Given the description of an element on the screen output the (x, y) to click on. 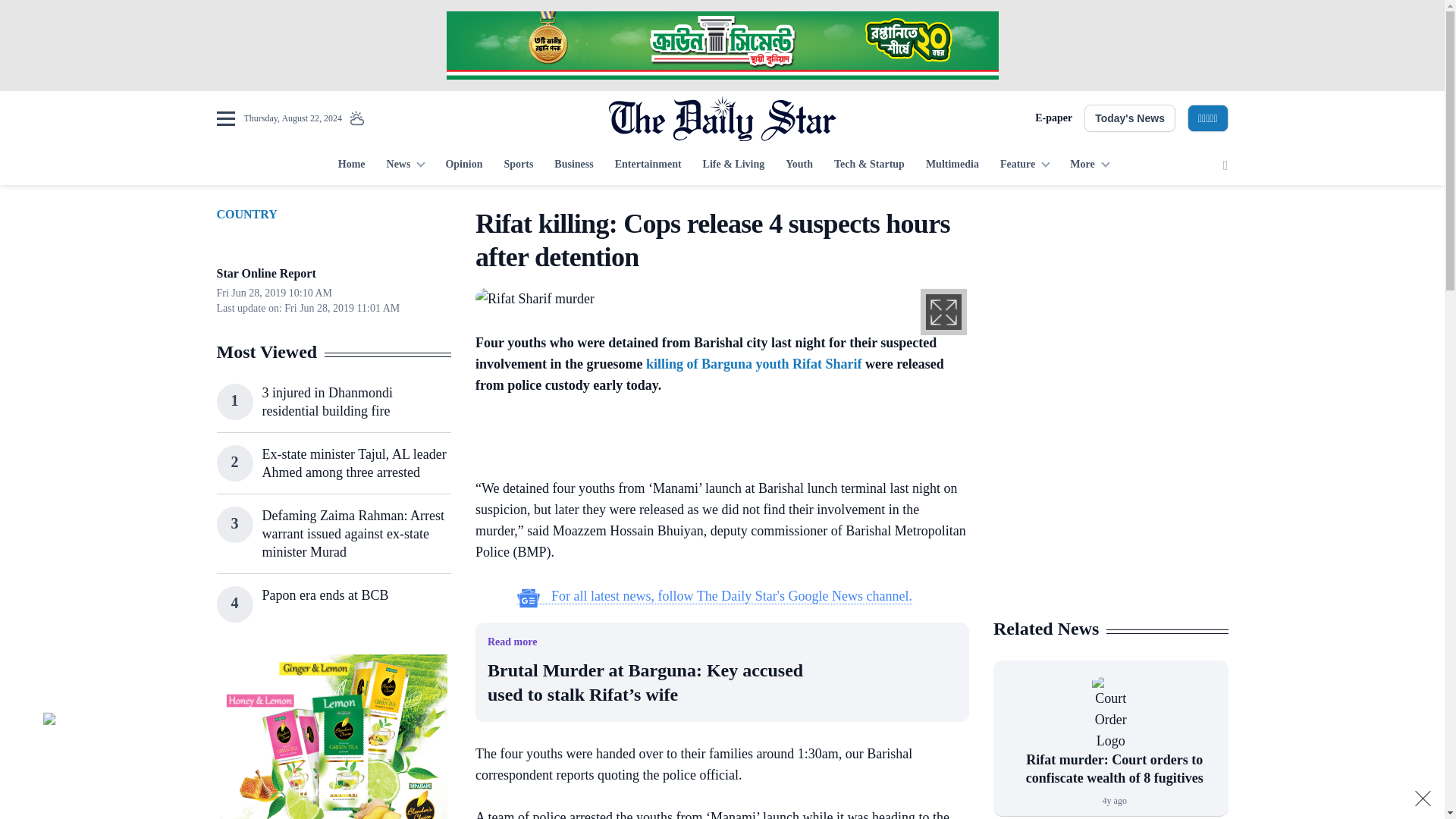
Today's News (1129, 117)
3rd party ad content (1110, 506)
Multimedia (952, 165)
News (405, 165)
Entertainment (647, 165)
Court Order Logo (1110, 713)
Opinion (463, 165)
Rifat Sharif murder (535, 296)
3rd party ad content (721, 45)
3rd party ad content (1110, 302)
